Given the description of an element on the screen output the (x, y) to click on. 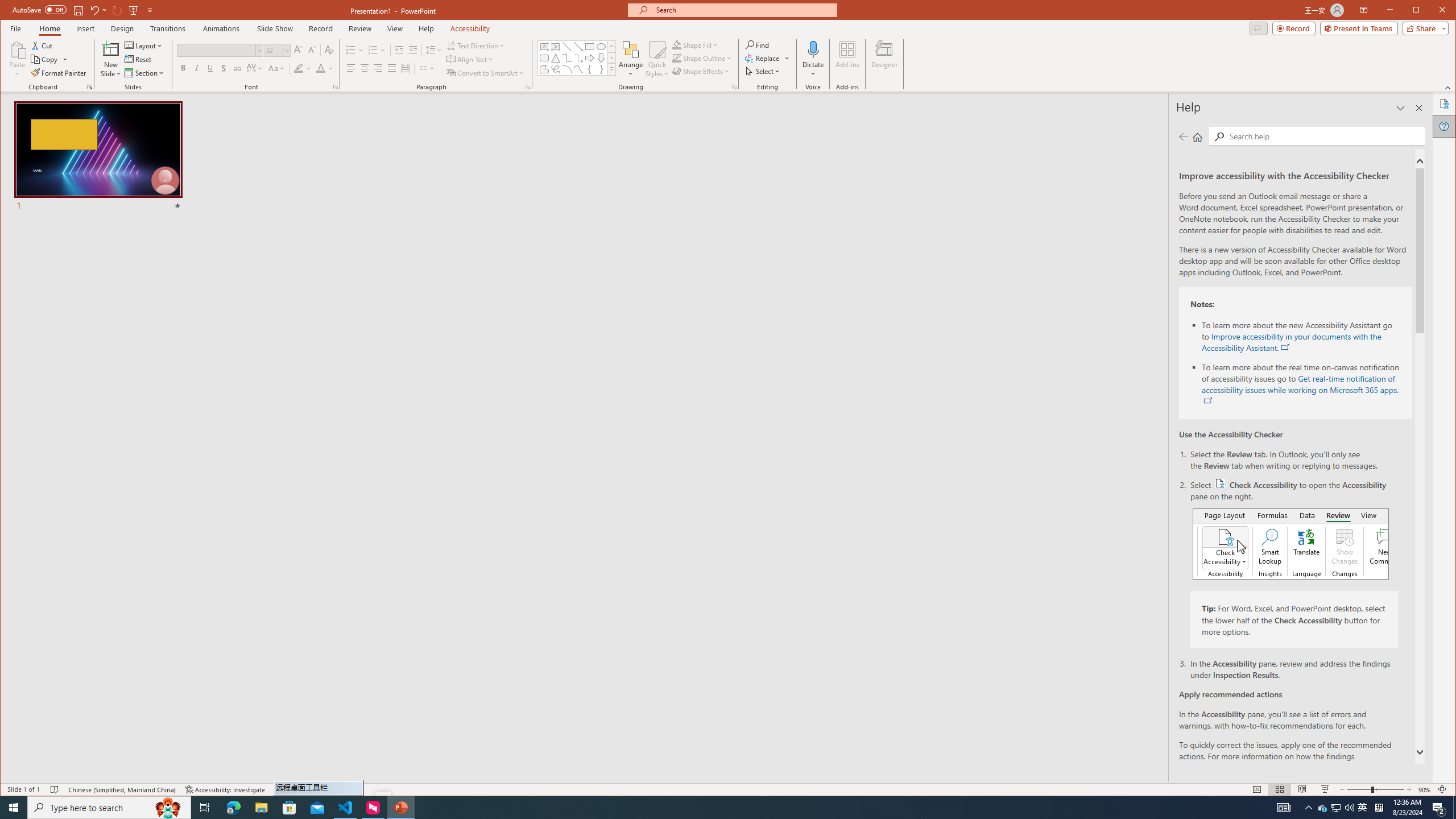
Format Object... (733, 86)
Curve (577, 69)
Shape Outline Blue, Accent 1 (676, 57)
Search (1218, 136)
Clear Formatting (328, 49)
Oval (601, 46)
Freeform: Shape (544, 69)
Align Right (377, 68)
Start (13, 807)
